Given the description of an element on the screen output the (x, y) to click on. 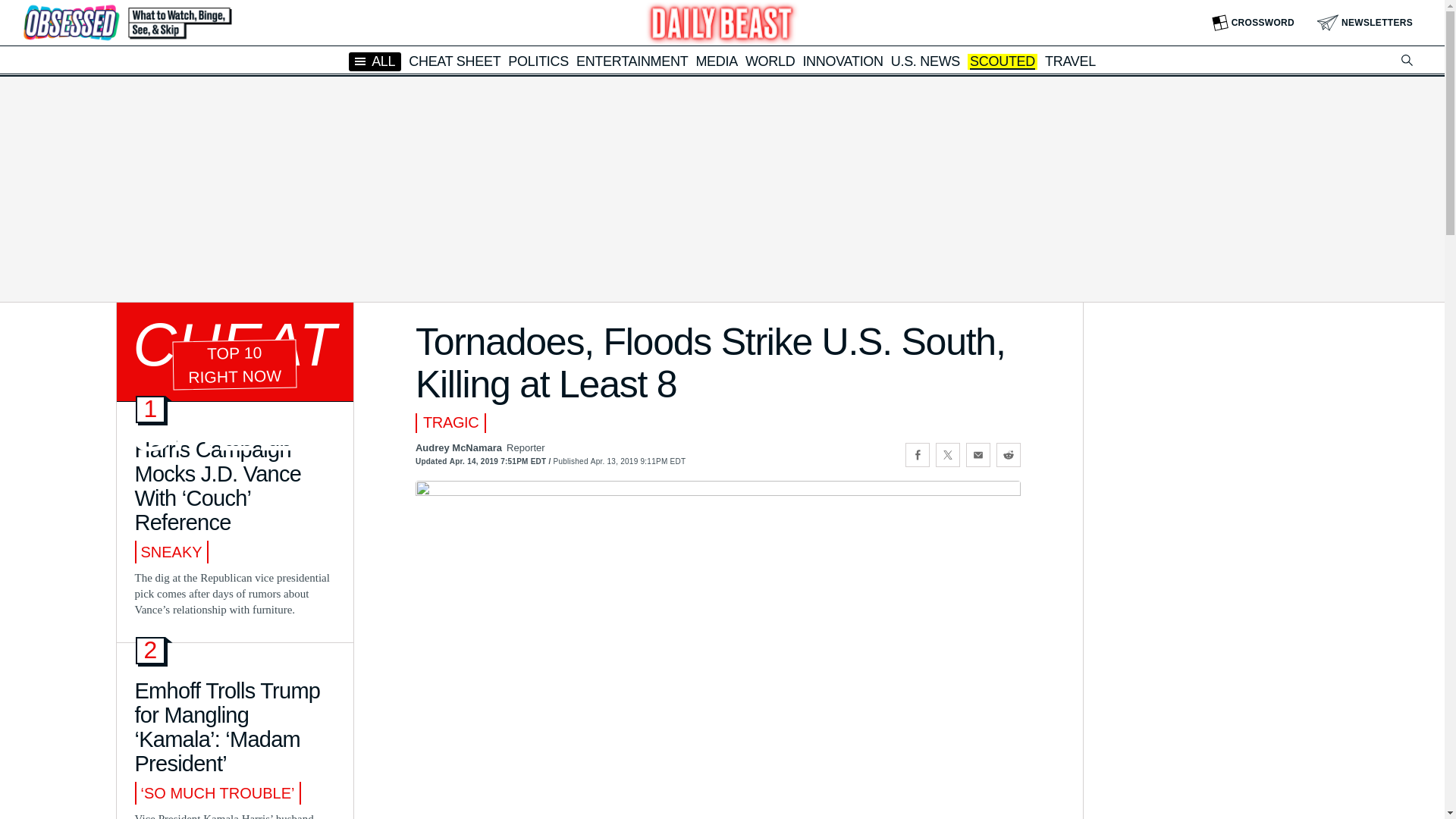
ALL (375, 60)
SCOUTED (1002, 61)
U.S. NEWS (925, 60)
INNOVATION (842, 60)
ENTERTAINMENT (631, 60)
NEWSLETTERS (1364, 22)
MEDIA (716, 60)
TRAVEL (1070, 60)
CHEAT SHEET (454, 60)
CROSSWORD (1252, 22)
WORLD (769, 60)
POLITICS (538, 60)
